Given the description of an element on the screen output the (x, y) to click on. 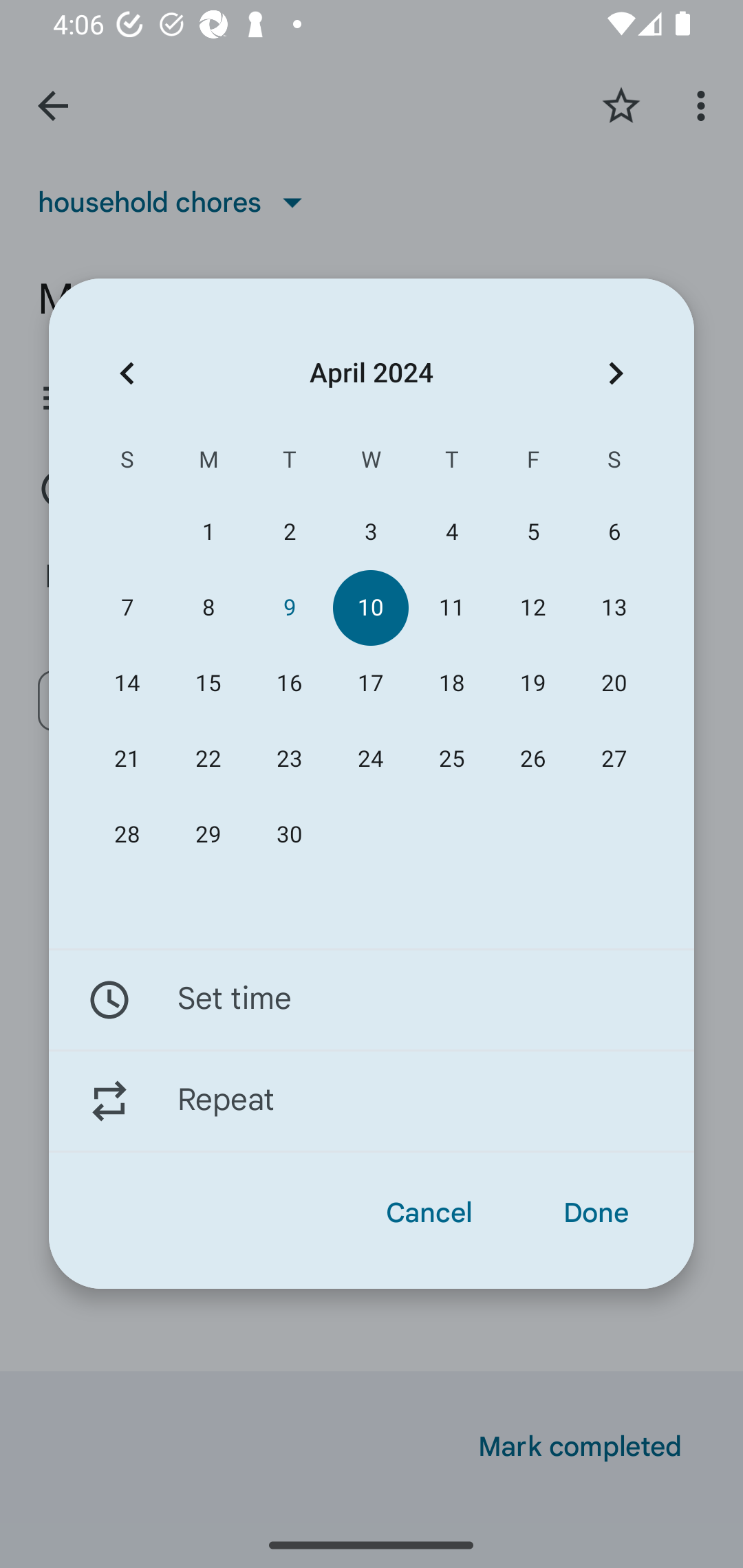
Previous month (126, 372)
Next month (615, 372)
1 01 April 2024 (207, 531)
2 02 April 2024 (288, 531)
3 03 April 2024 (370, 531)
4 04 April 2024 (451, 531)
5 05 April 2024 (532, 531)
6 06 April 2024 (613, 531)
7 07 April 2024 (126, 608)
8 08 April 2024 (207, 608)
9 09 April 2024 (288, 608)
10 10 April 2024 (370, 608)
11 11 April 2024 (451, 608)
12 12 April 2024 (532, 608)
13 13 April 2024 (613, 608)
14 14 April 2024 (126, 683)
15 15 April 2024 (207, 683)
16 16 April 2024 (288, 683)
17 17 April 2024 (370, 683)
18 18 April 2024 (451, 683)
19 19 April 2024 (532, 683)
20 20 April 2024 (613, 683)
21 21 April 2024 (126, 758)
22 22 April 2024 (207, 758)
23 23 April 2024 (288, 758)
24 24 April 2024 (370, 758)
25 25 April 2024 (451, 758)
26 26 April 2024 (532, 758)
27 27 April 2024 (613, 758)
28 28 April 2024 (126, 834)
29 29 April 2024 (207, 834)
30 30 April 2024 (288, 834)
Set time (371, 999)
Repeat (371, 1101)
Cancel (429, 1213)
Done (595, 1213)
